Given the description of an element on the screen output the (x, y) to click on. 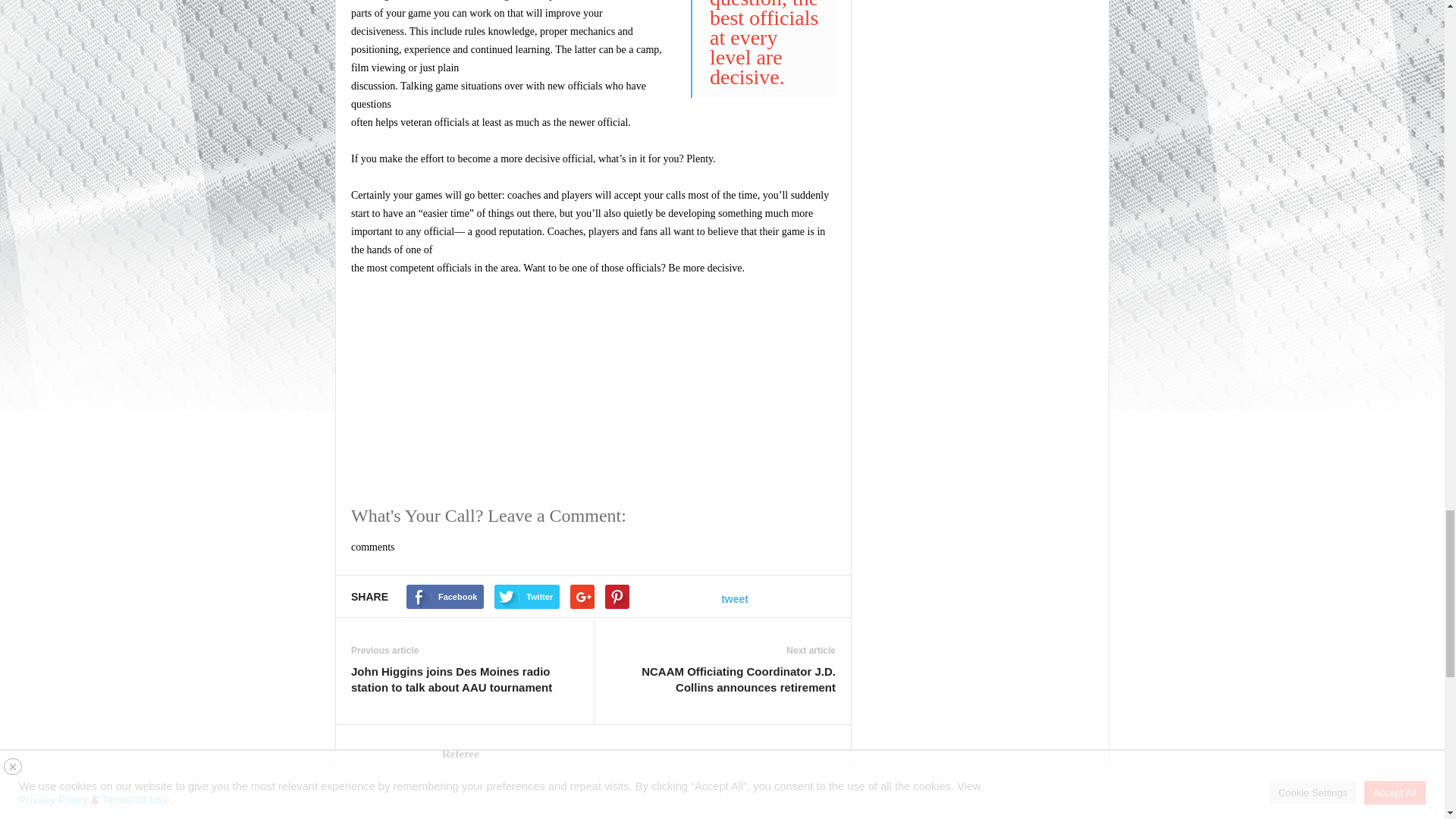
Youtube (492, 808)
Facebook (452, 808)
Twitter (473, 808)
